Given the description of an element on the screen output the (x, y) to click on. 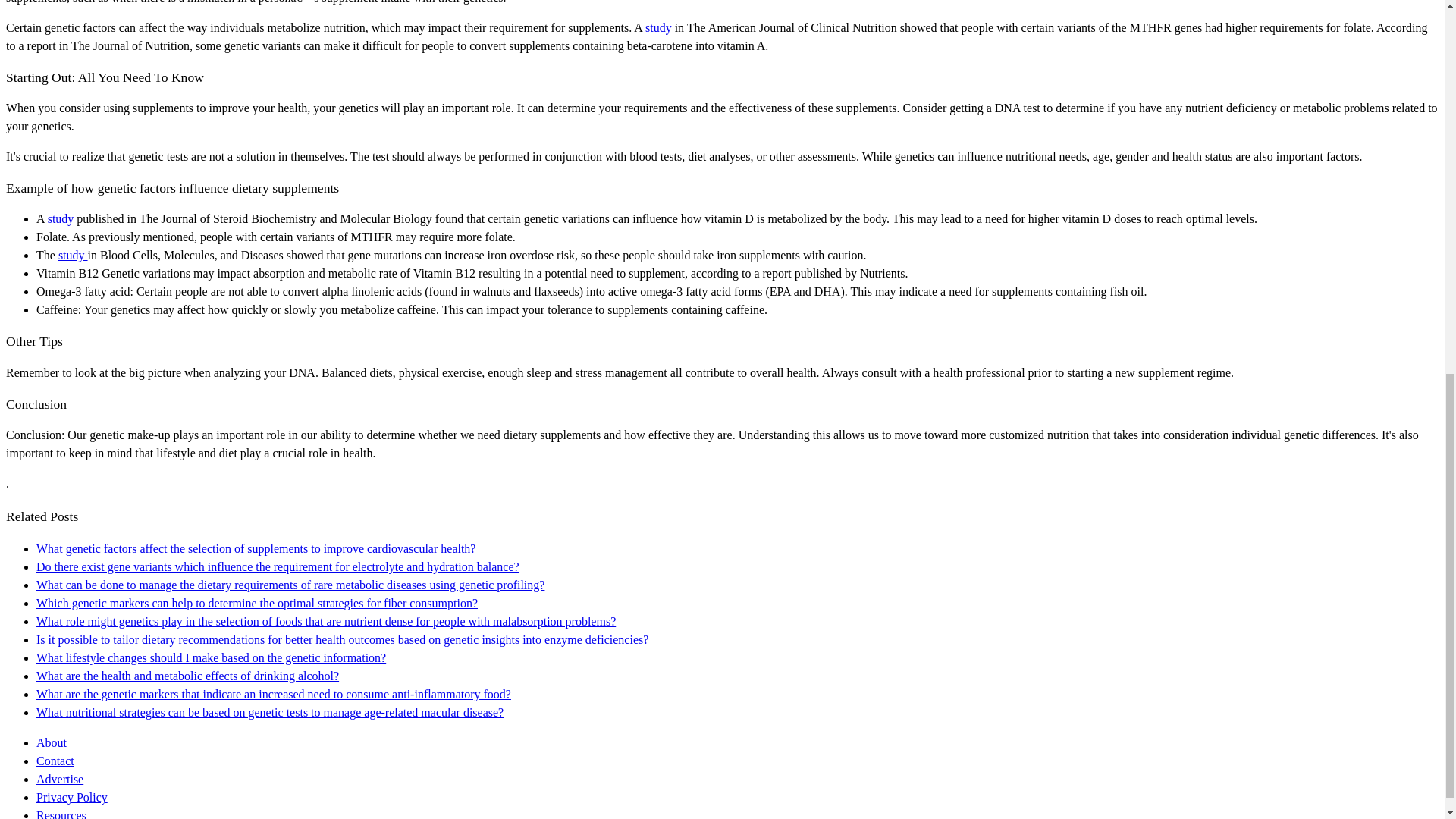
About (51, 742)
study (72, 254)
Privacy Policy (71, 797)
Advertise (59, 779)
Contact (55, 760)
study (62, 218)
